Given the description of an element on the screen output the (x, y) to click on. 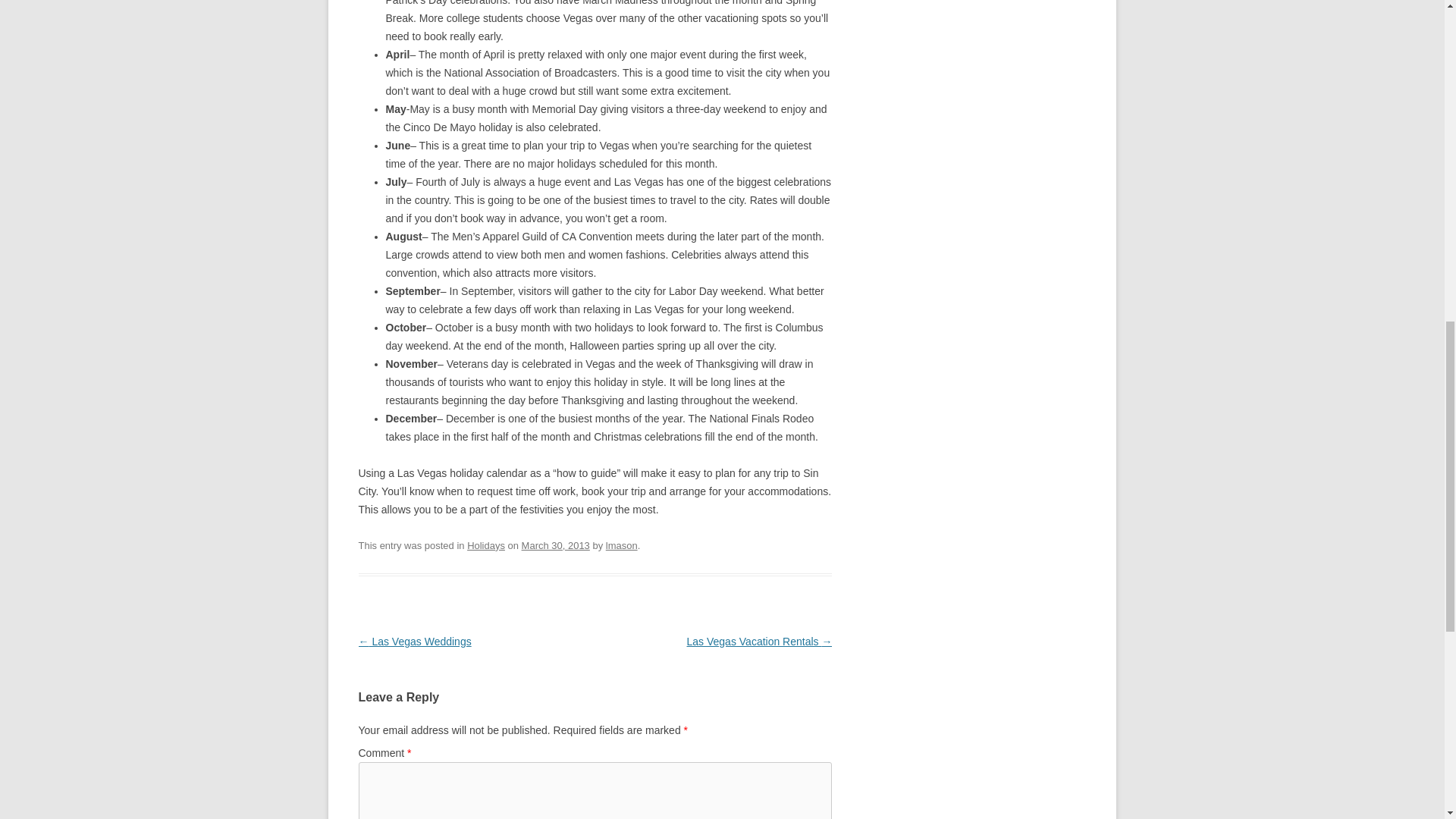
View all posts by lmason (621, 545)
Holidays (486, 545)
4:30 am (555, 545)
March 30, 2013 (555, 545)
lmason (621, 545)
